Given the description of an element on the screen output the (x, y) to click on. 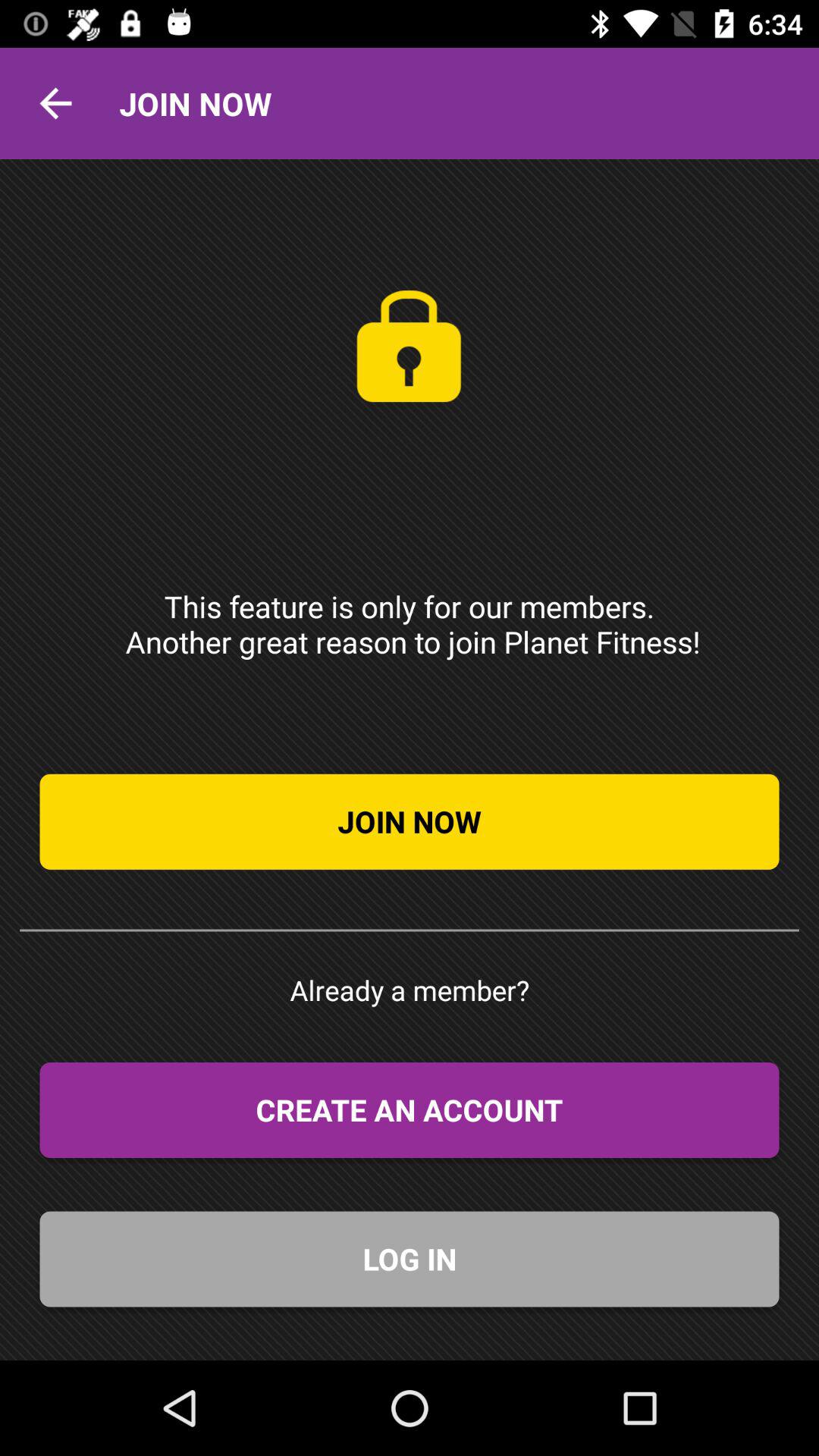
jump to the create an account item (409, 1109)
